Given the description of an element on the screen output the (x, y) to click on. 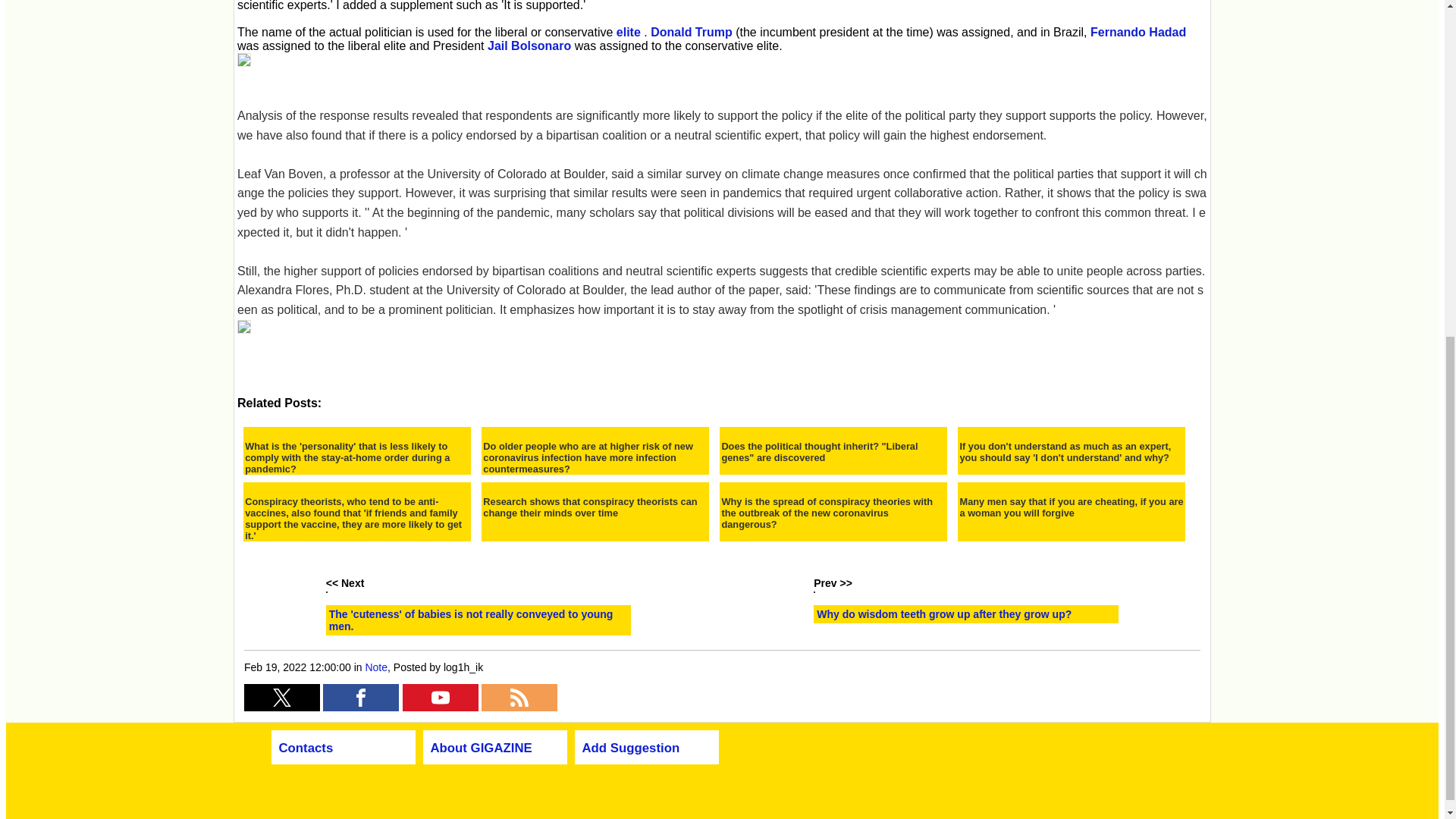
Jail Bolsonaro (528, 45)
elite (627, 31)
Fernando Hadad (1138, 31)
Why do wisdom teeth grow up after they grow up? (943, 613)
Donald Trump (691, 31)
Add Suggestion (630, 748)
